Given the description of an element on the screen output the (x, y) to click on. 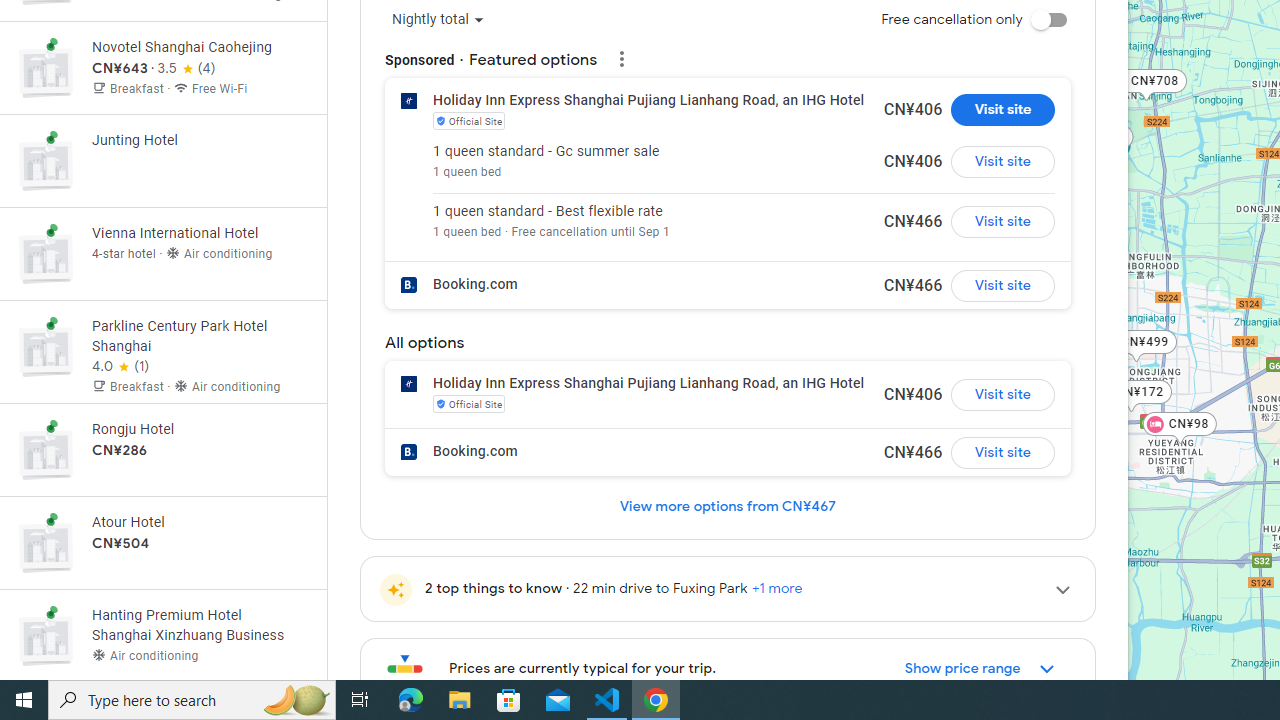
Visit site for Booking.com (1001, 452)
Show price range (980, 668)
